Given the description of an element on the screen output the (x, y) to click on. 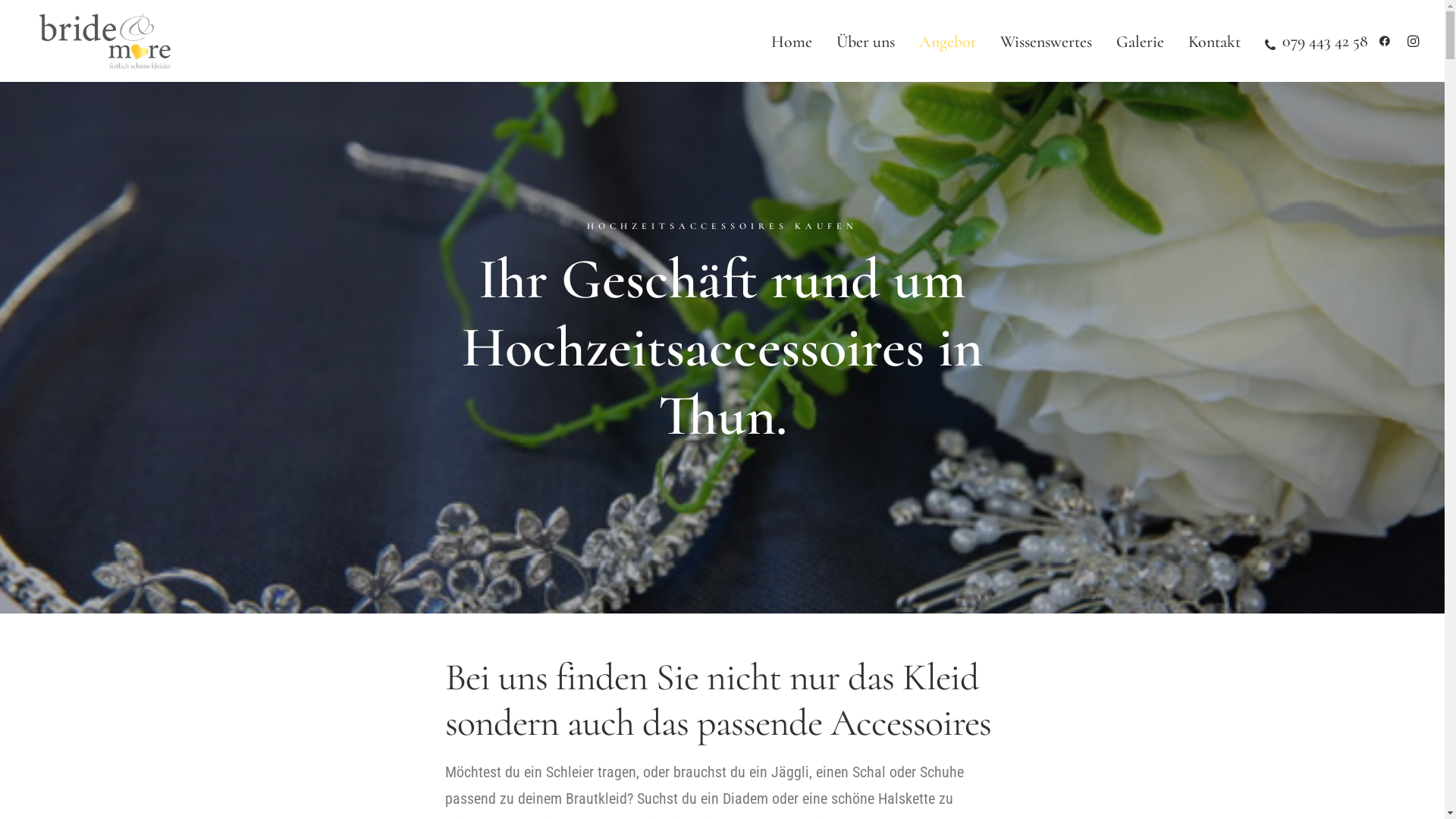
Kontakt Element type: text (1213, 41)
079 443 42 58 Element type: text (1311, 40)
Home Element type: text (790, 41)
Wissenswertes Element type: text (1044, 41)
Galerie Element type: text (1139, 41)
Angebot Element type: text (947, 41)
